Given the description of an element on the screen output the (x, y) to click on. 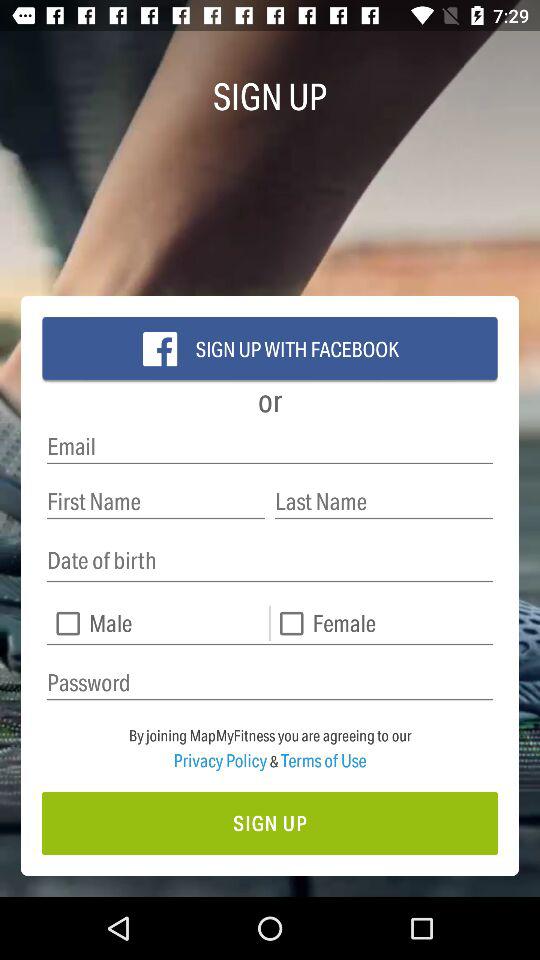
last name text field (384, 501)
